Given the description of an element on the screen output the (x, y) to click on. 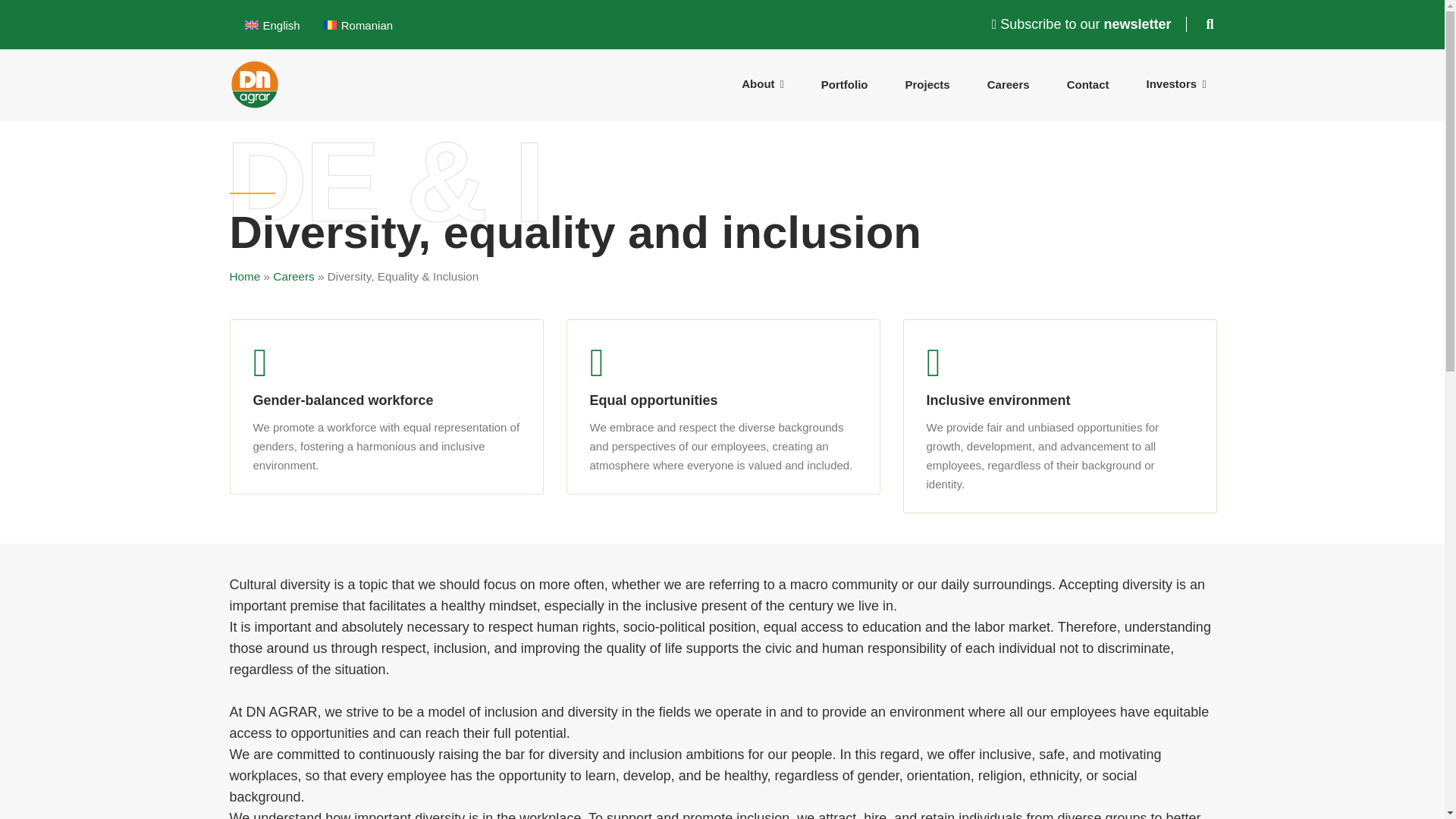
Projects (927, 83)
Portfolio (845, 83)
About (762, 83)
Investors (1176, 83)
Projects (927, 83)
About (762, 83)
Romanian (357, 25)
Subscribe to our newsletter (1089, 23)
Contact (1087, 83)
Careers (1008, 83)
Contact (1087, 83)
Investors (1176, 83)
Portfolio (845, 83)
English (271, 25)
Careers (1008, 83)
